Given the description of an element on the screen output the (x, y) to click on. 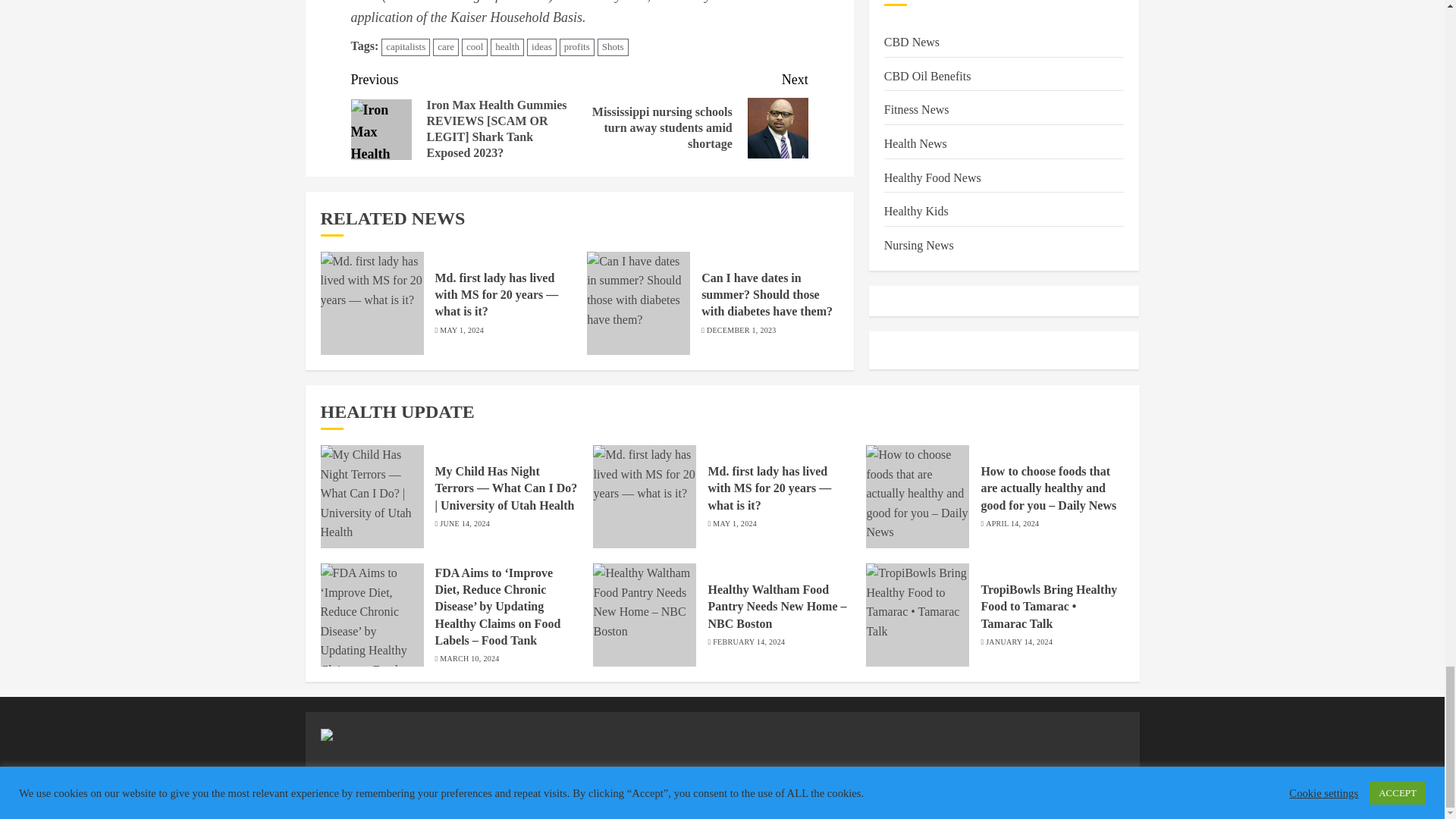
care (445, 47)
capitalists (405, 47)
cool (474, 47)
KHN (364, 1)
Mississippi nursing schools turn away students amid shortage (778, 127)
